Given the description of an element on the screen output the (x, y) to click on. 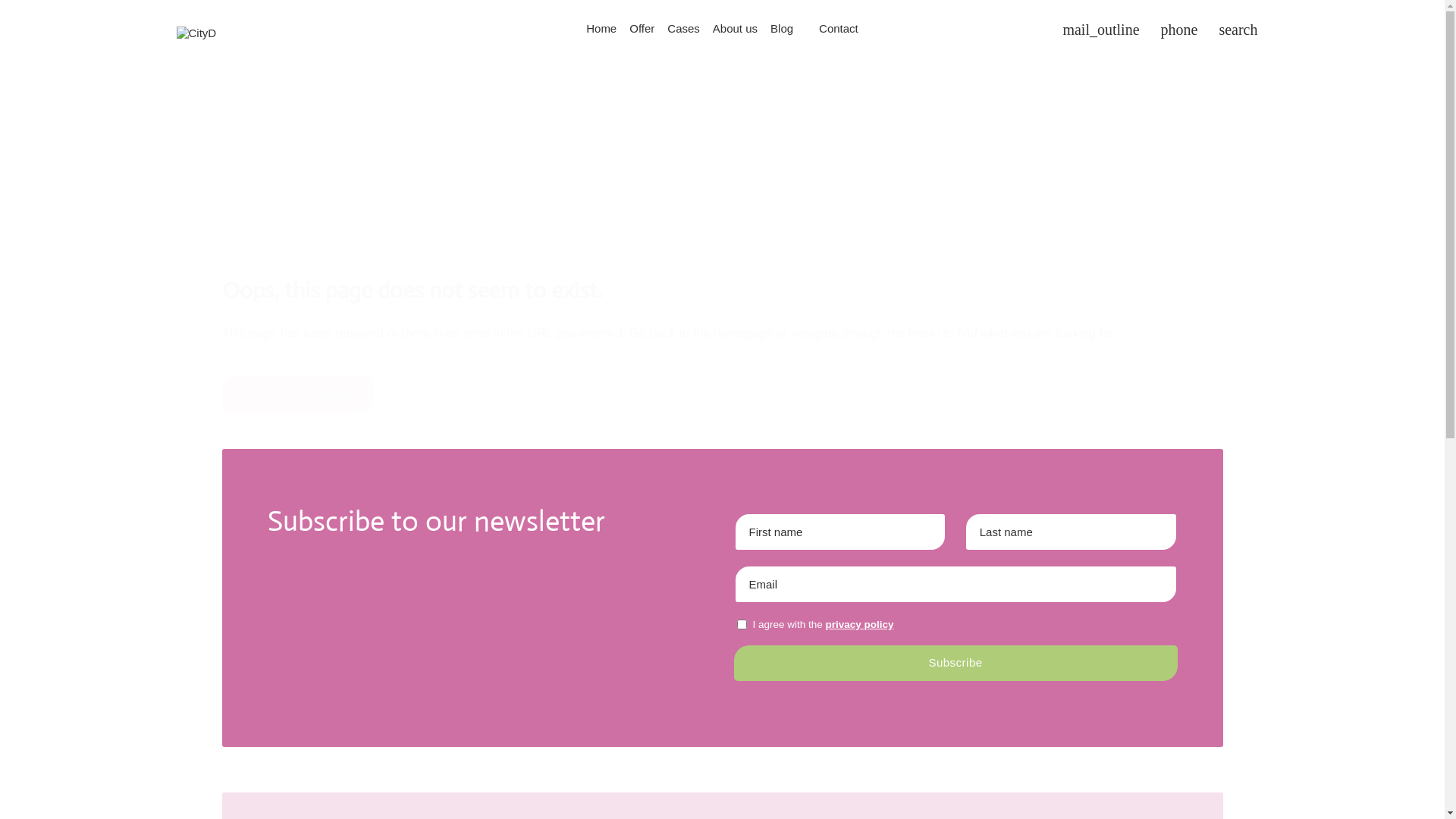
Offer Element type: text (642, 27)
privacy policy Element type: text (859, 624)
Home Element type: text (601, 27)
search Element type: text (1237, 29)
phone Element type: text (1179, 29)
About us Element type: text (734, 27)
Cases Element type: text (683, 27)
CityD Element type: hover (195, 32)
Contact Element type: text (838, 27)
Subscribe to our newsletter Element type: text (488, 535)
Blog Element type: text (782, 27)
Go back to homepage Element type: text (296, 393)
mail_outline Element type: text (1100, 29)
